Given the description of an element on the screen output the (x, y) to click on. 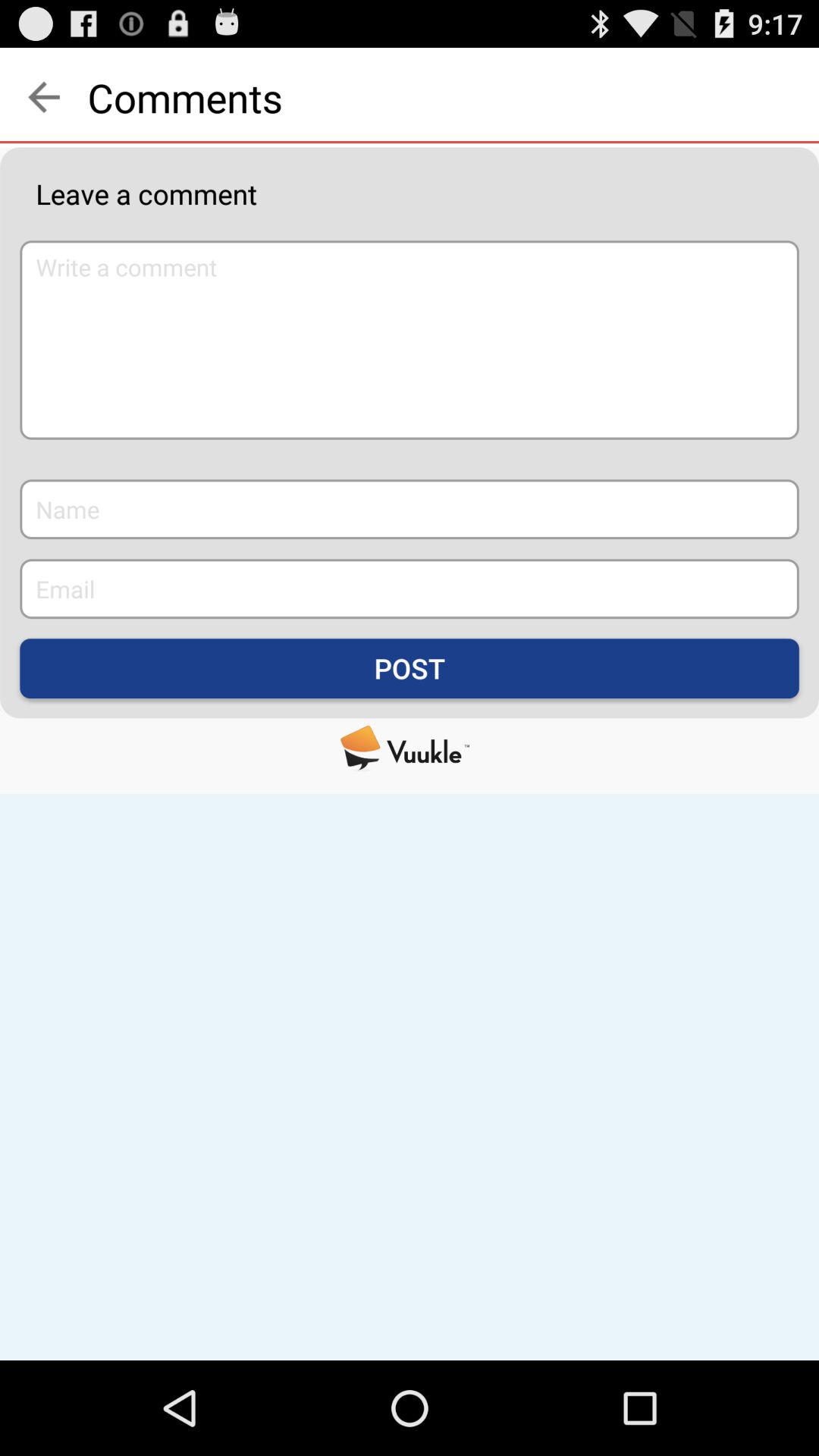
write comment (409, 339)
